Given the description of an element on the screen output the (x, y) to click on. 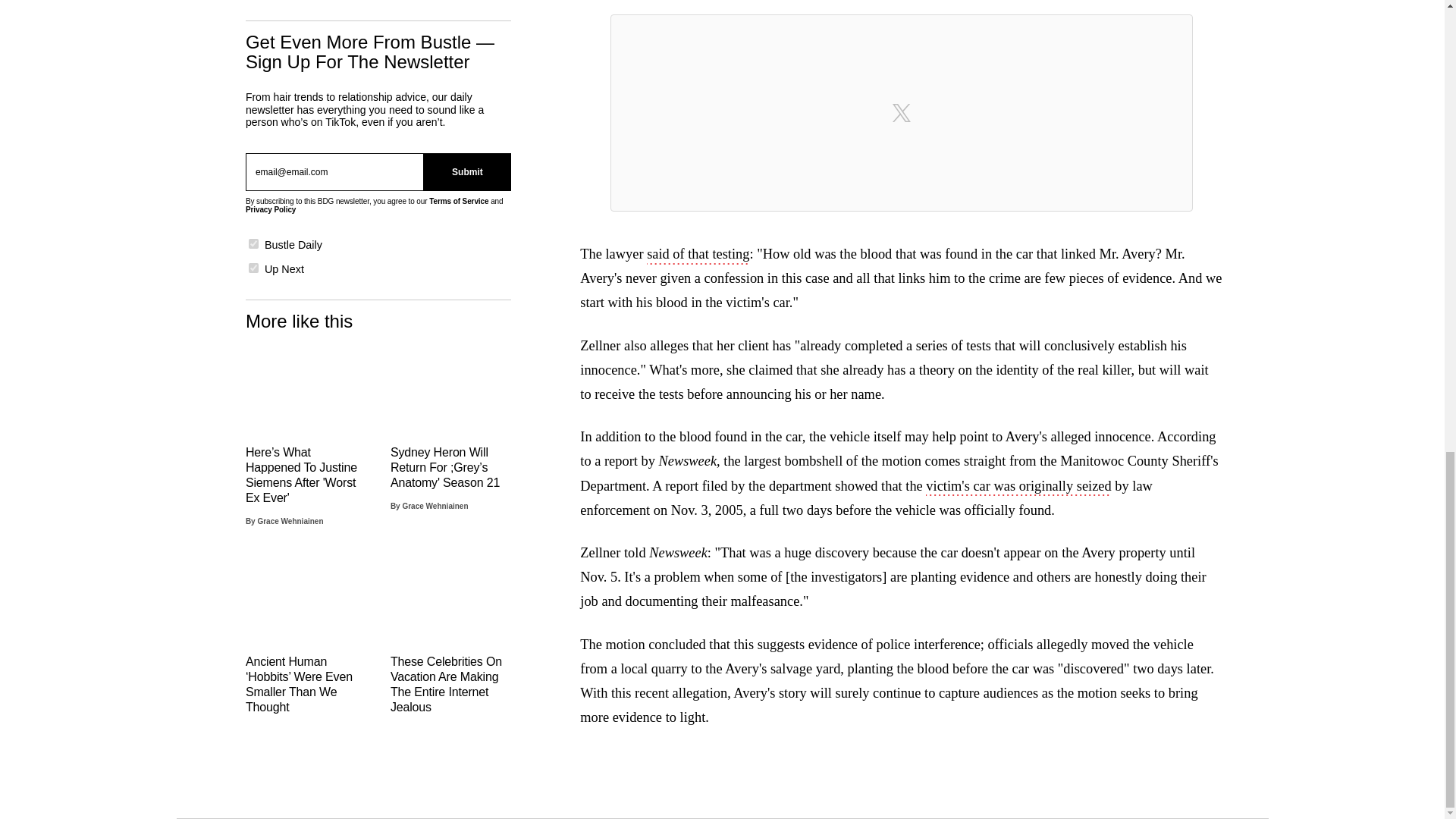
said of that testing (697, 255)
Submit (467, 171)
Terms of Service (458, 201)
Privacy Policy (270, 209)
victim's car was originally seized (1018, 487)
